Given the description of an element on the screen output the (x, y) to click on. 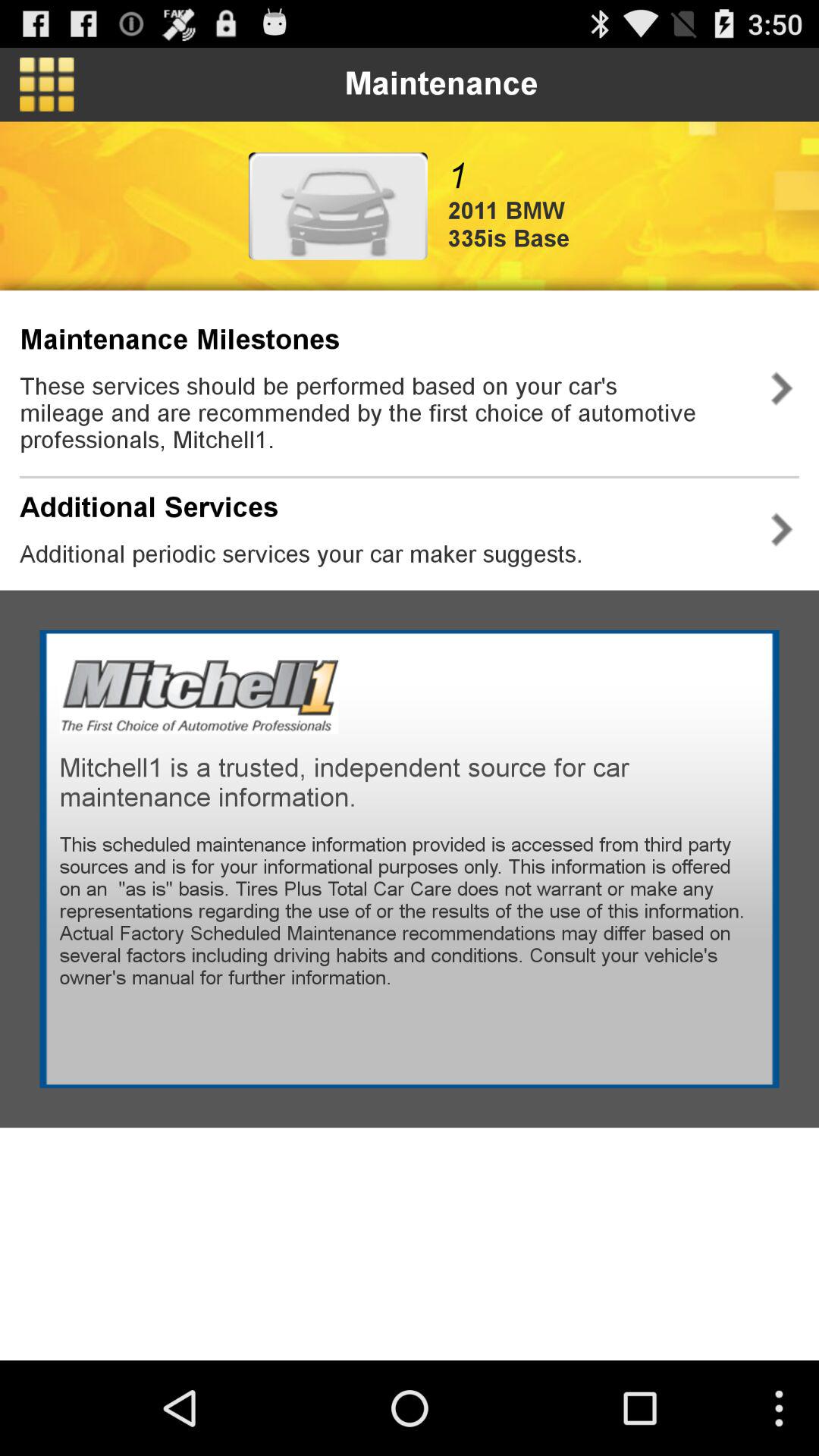
click item next to the maintenance app (46, 84)
